Given the description of an element on the screen output the (x, y) to click on. 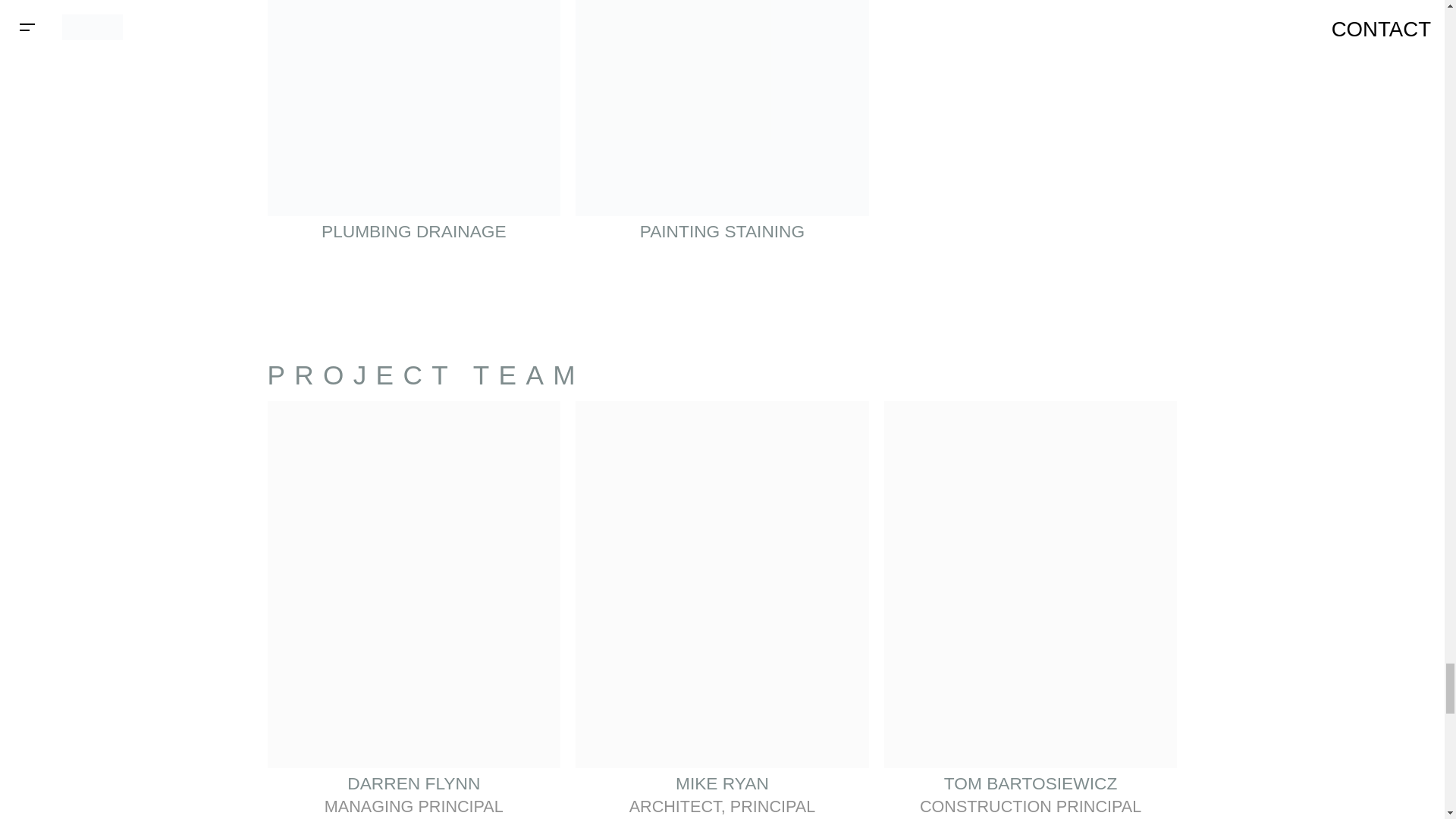
PLUMBING DRAINAGE (413, 128)
PAINTING STAINING (722, 128)
PROJECT TEAM (424, 374)
